Given the description of an element on the screen output the (x, y) to click on. 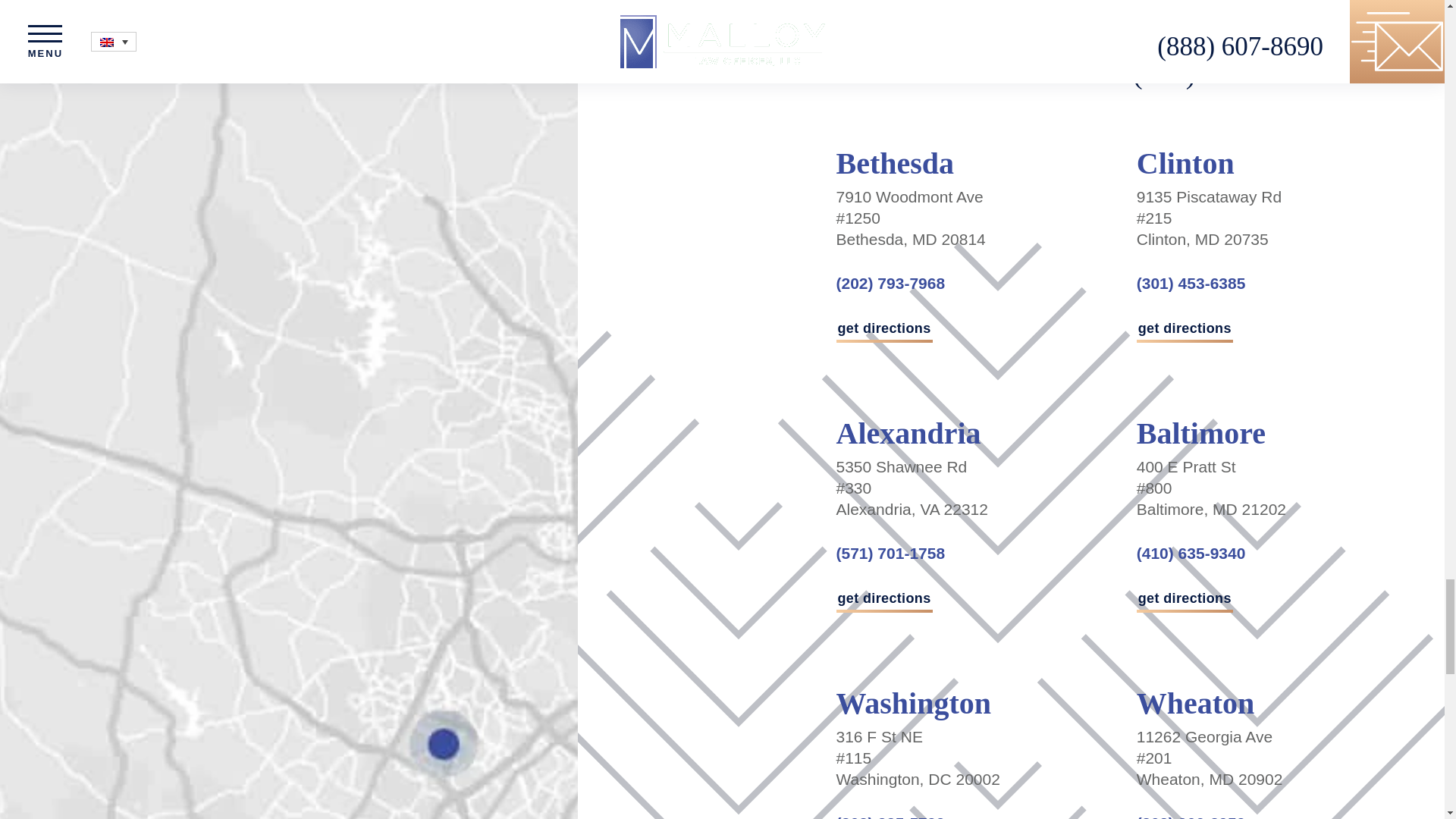
Call us (889, 552)
Call us (889, 282)
Call us (1191, 282)
Call us (889, 816)
Call us (1191, 816)
Call us (1191, 552)
Call us (1222, 72)
